Given the description of an element on the screen output the (x, y) to click on. 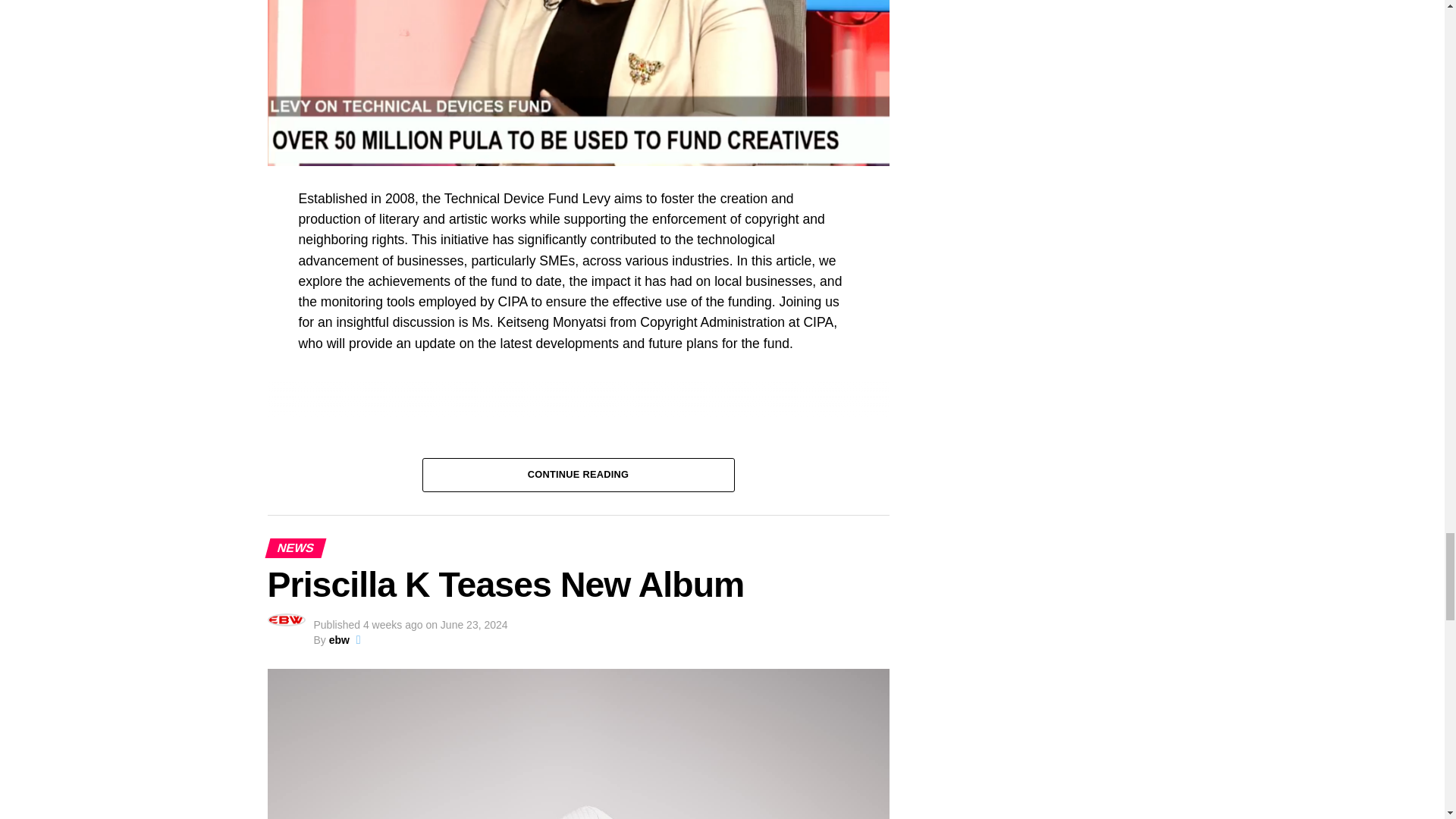
Posts by ebw (339, 639)
